Given the description of an element on the screen output the (x, y) to click on. 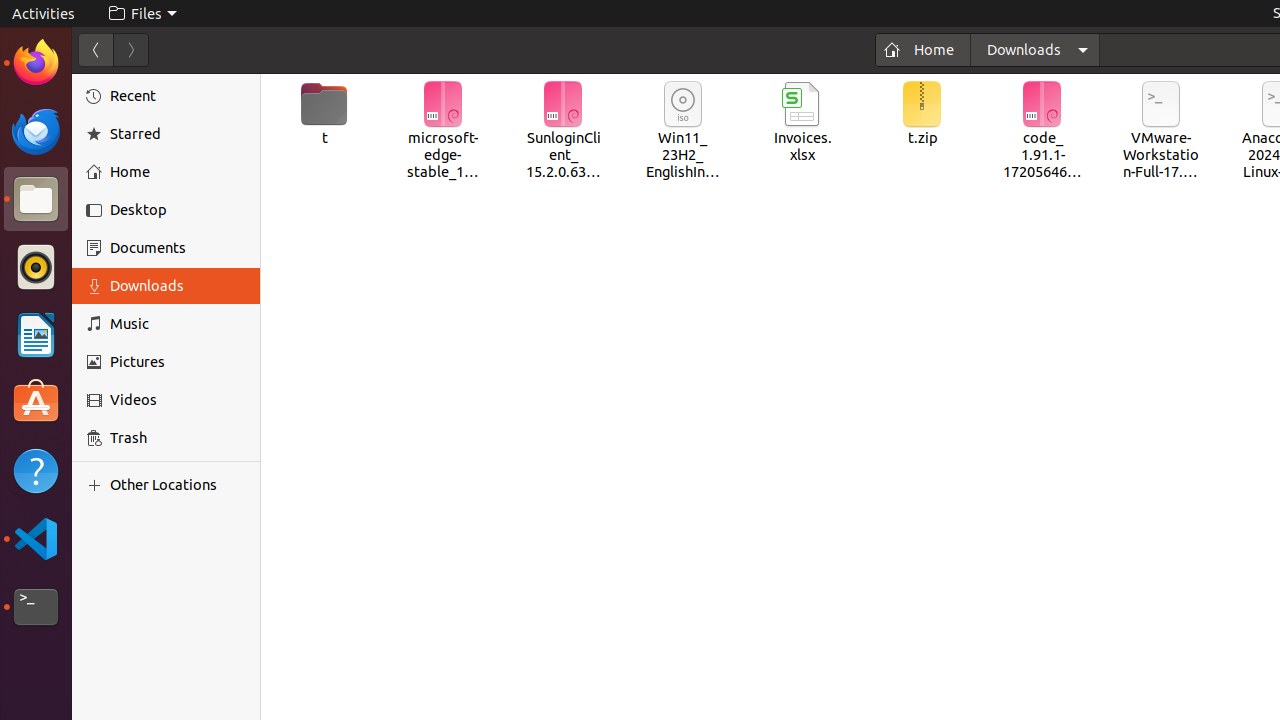
code_1.91.1-1720564633_amd64.deb Element type: canvas (1041, 131)
Activities Element type: label (43, 13)
Trash Element type: label (133, 191)
